Given the description of an element on the screen output the (x, y) to click on. 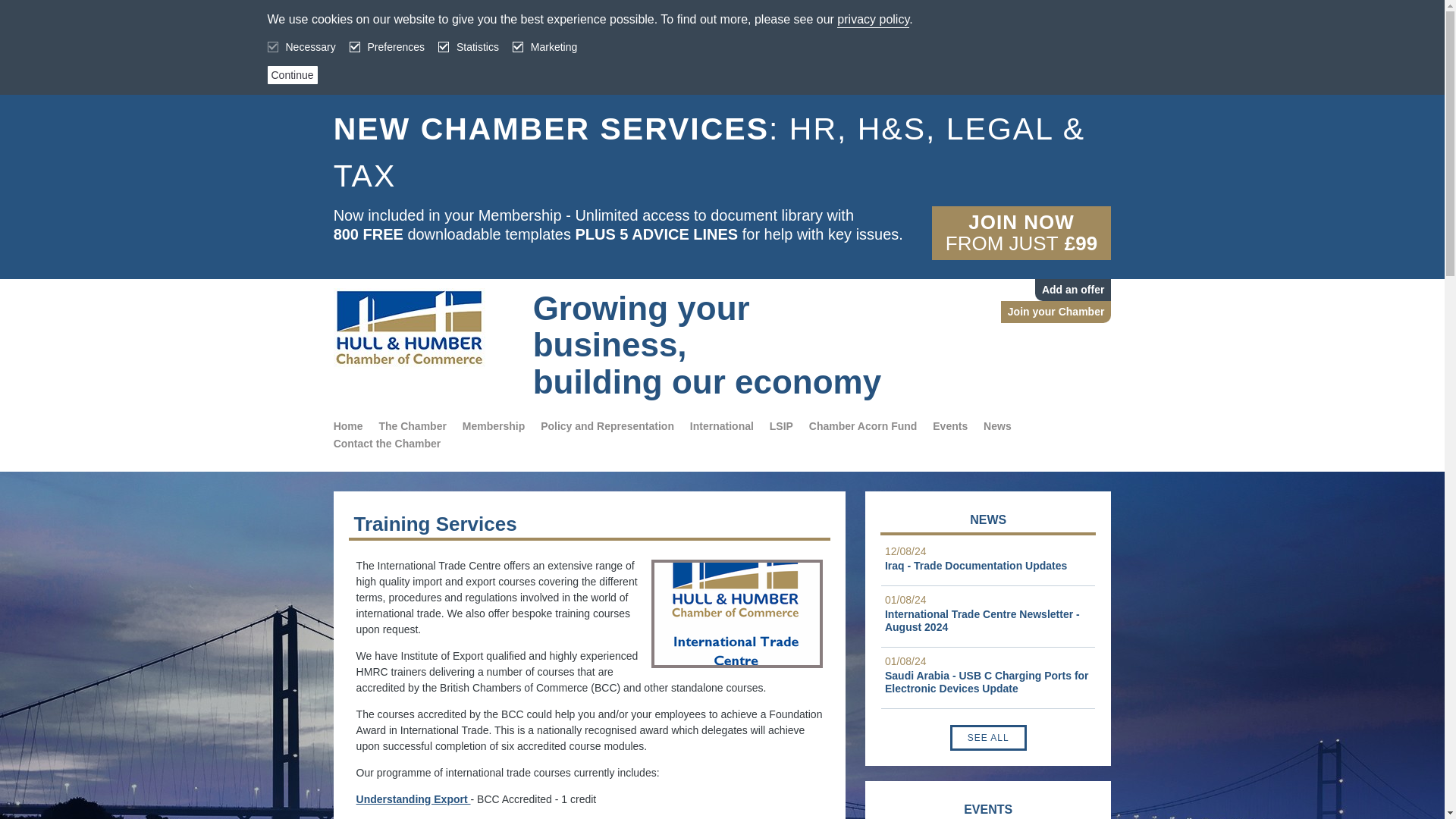
Home (347, 426)
The Chamber (411, 426)
Add an offer (1072, 290)
Hull and Humber Chamber of Commerce (423, 328)
Membership (493, 426)
Continue (291, 75)
privacy policy (872, 20)
Continue (291, 75)
Join your Chamber (1056, 311)
Membership (493, 426)
